Given the description of an element on the screen output the (x, y) to click on. 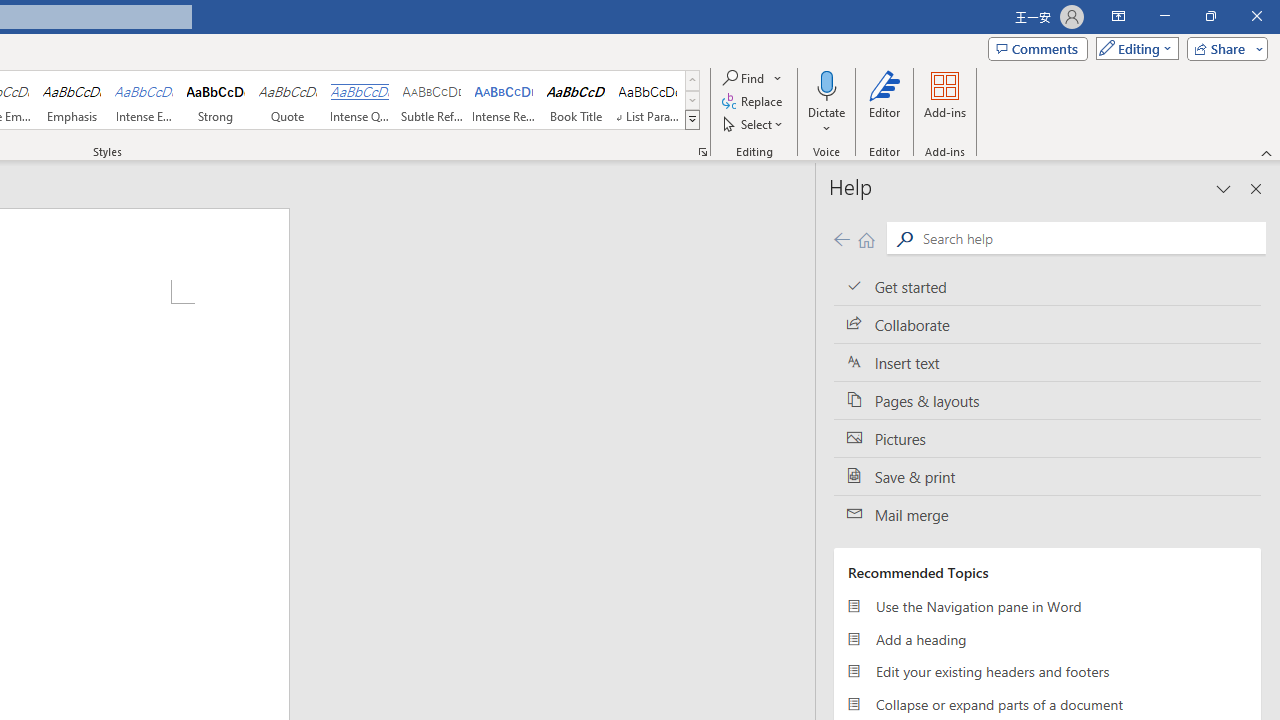
Select (754, 124)
Book Title (575, 100)
Quote (287, 100)
Styles (692, 120)
Insert text (1047, 363)
Mail merge (1047, 515)
Pictures (1047, 438)
Minimize (1164, 16)
Class: NetUIImage (692, 119)
Search (1089, 237)
Previous page (841, 238)
Intense Emphasis (143, 100)
Collapse or expand parts of a document (1047, 704)
